Given the description of an element on the screen output the (x, y) to click on. 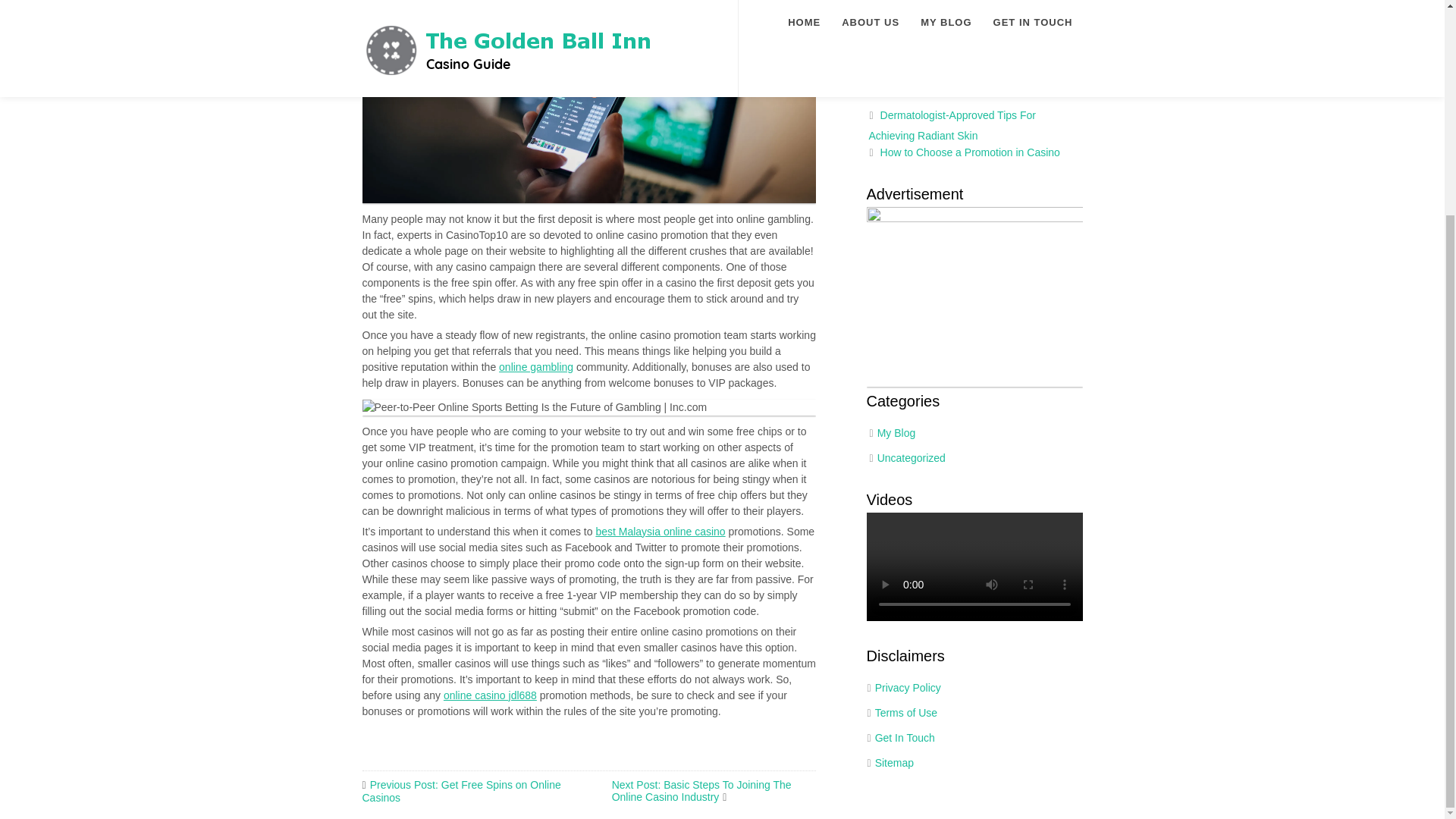
Next Post: Basic Steps To Joining The Online Casino Industry (701, 790)
online casino jdl688 (490, 695)
How to Choose a Promotion in Casino (969, 151)
online gambling (536, 367)
Terms of Use (906, 712)
best Malaysia online casino (660, 531)
Uncategorized (910, 458)
Privacy Policy (907, 686)
Sitemap (894, 762)
Dermatologist-Approved Tips For Achieving Radiant Skin (952, 124)
